Given the description of an element on the screen output the (x, y) to click on. 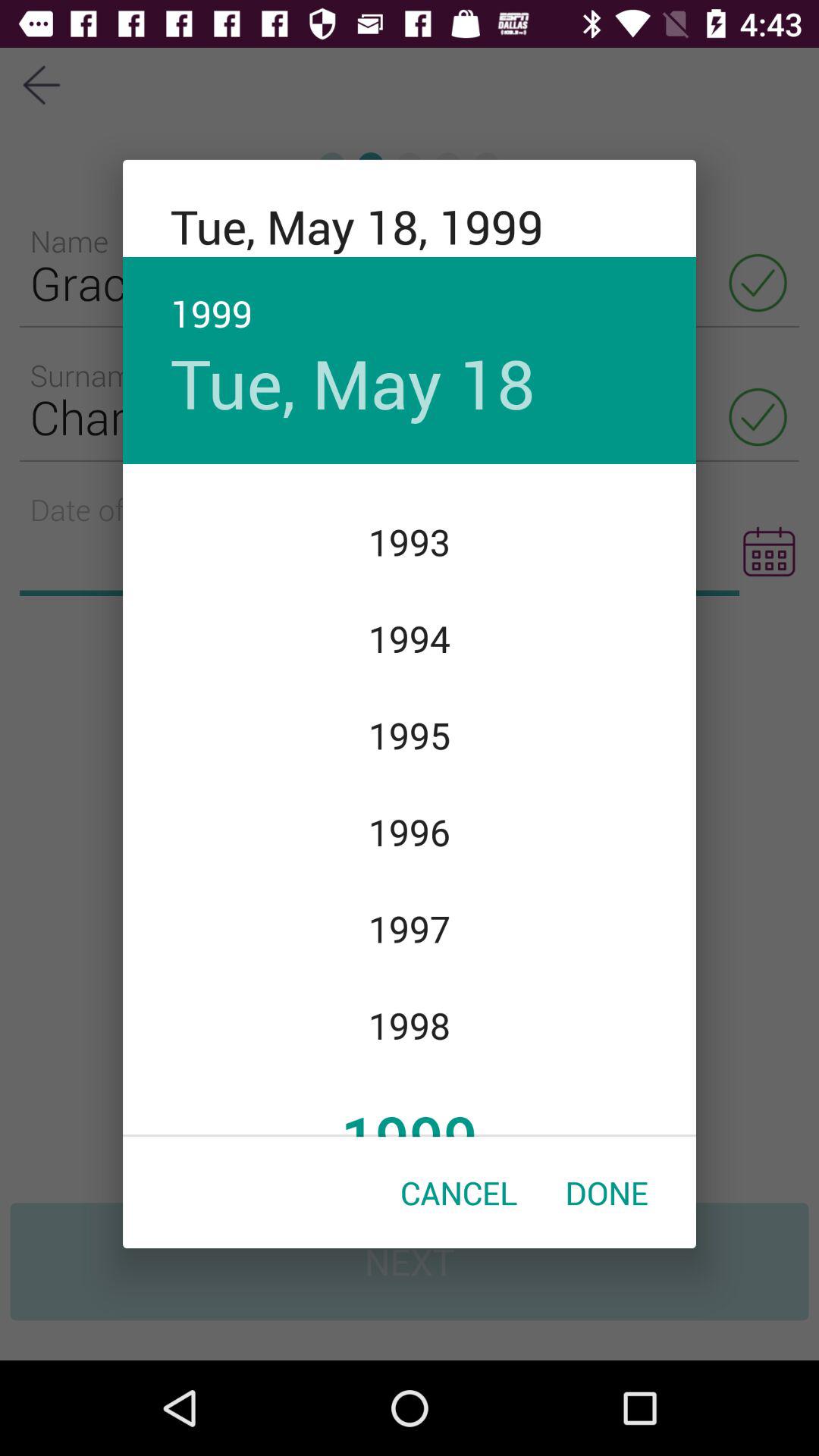
turn on the item next to the cancel item (606, 1192)
